Given the description of an element on the screen output the (x, y) to click on. 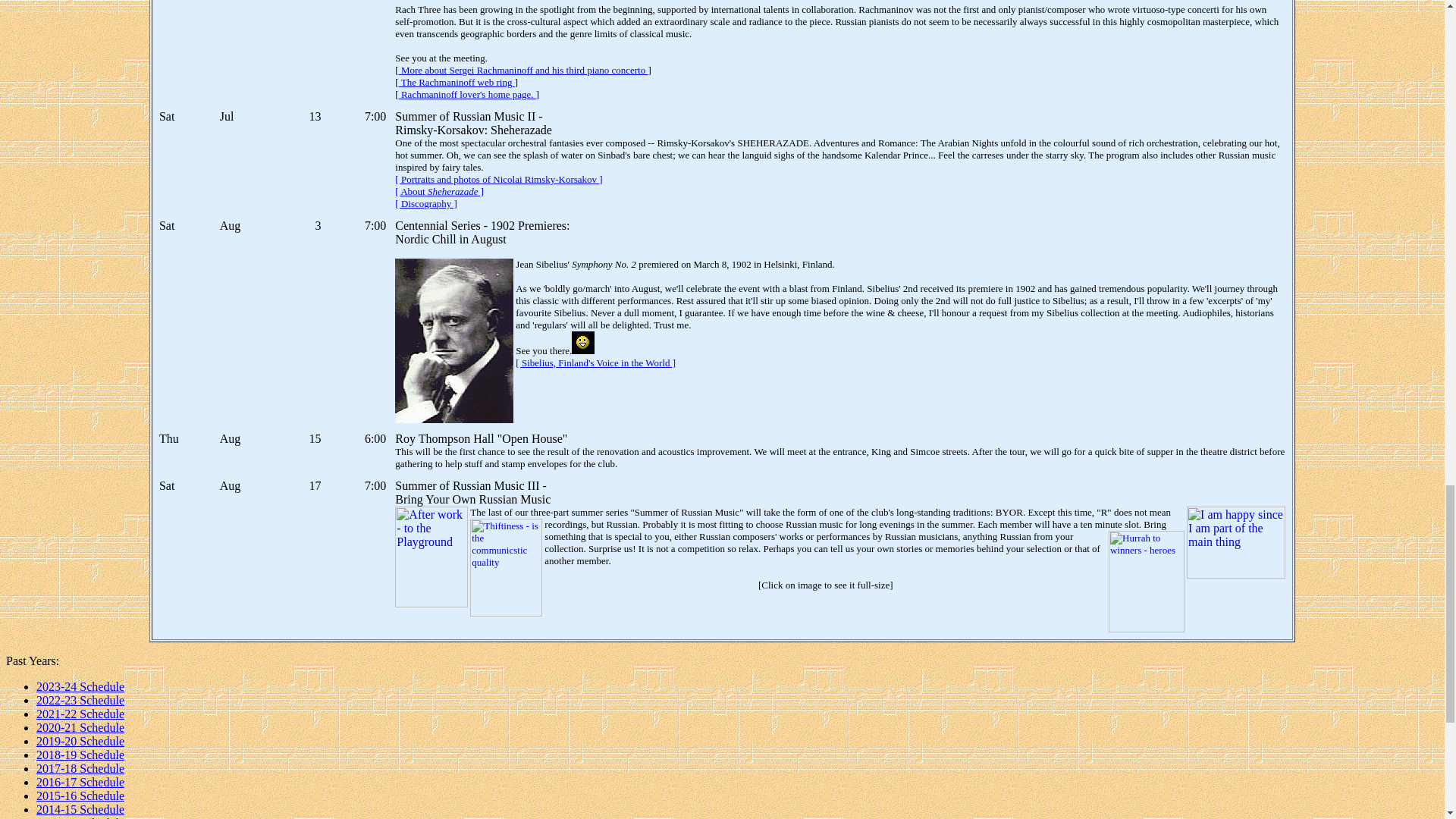
2020-21 Schedule (79, 727)
Bouncing Smiley (583, 342)
2019-20 Schedule (79, 740)
Rachmaninoff lover's home page. (466, 93)
2016-17 Schedule (79, 781)
2015-16 Schedule (79, 795)
2022-23 Schedule (79, 699)
2023-24 Schedule (79, 686)
2018-19 Schedule (79, 754)
2021-22 Schedule (79, 713)
